Given the description of an element on the screen output the (x, y) to click on. 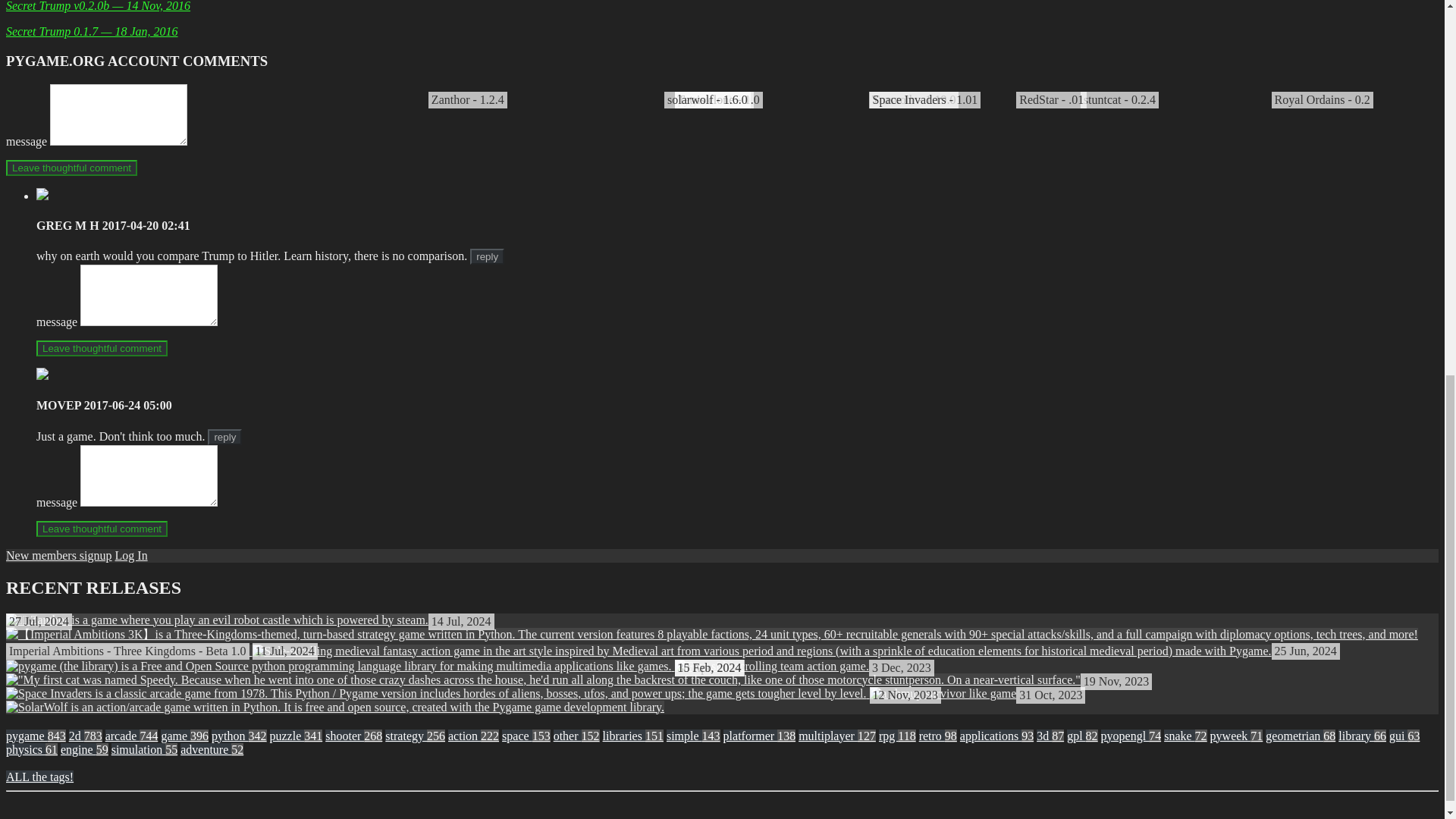
Free side-scrolling team action game. (772, 666)
a shmup survivor like game (711, 649)
New members signup (942, 693)
Log In (216, 619)
Leave thoughtful comment (58, 554)
reply (131, 554)
Leave thoughtful comment (70, 167)
